Given the description of an element on the screen output the (x, y) to click on. 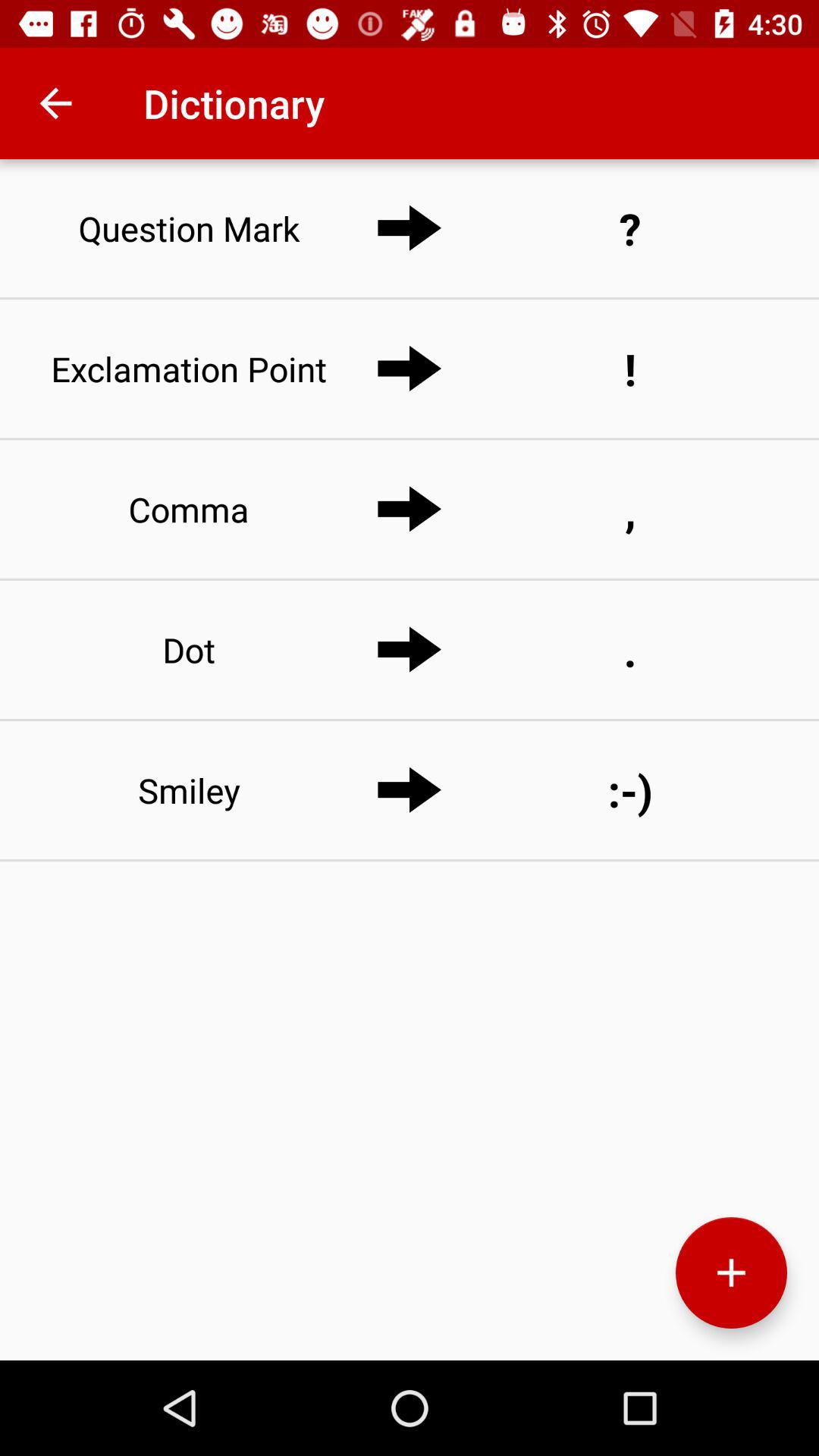
click the icon at the bottom right corner (731, 1272)
